Given the description of an element on the screen output the (x, y) to click on. 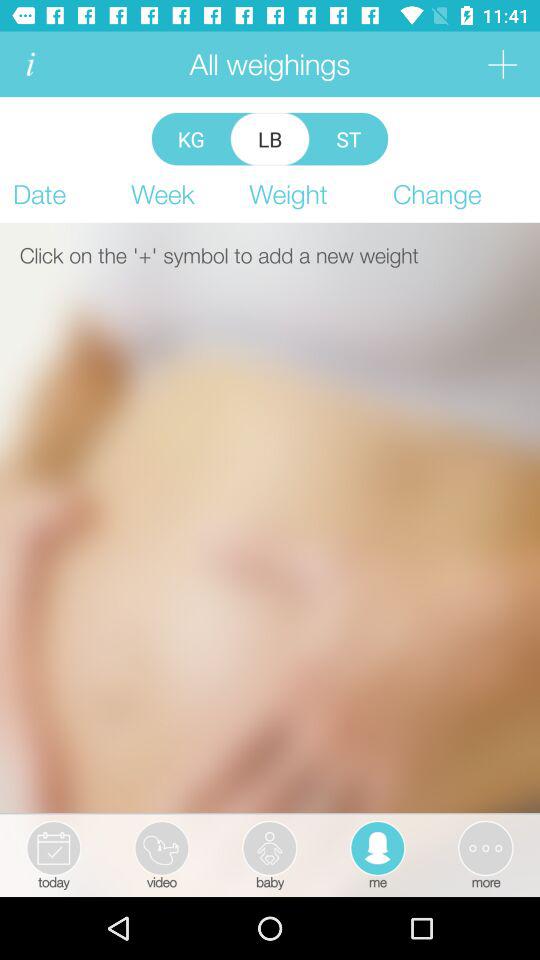
choose the kg icon (190, 138)
